Given the description of an element on the screen output the (x, y) to click on. 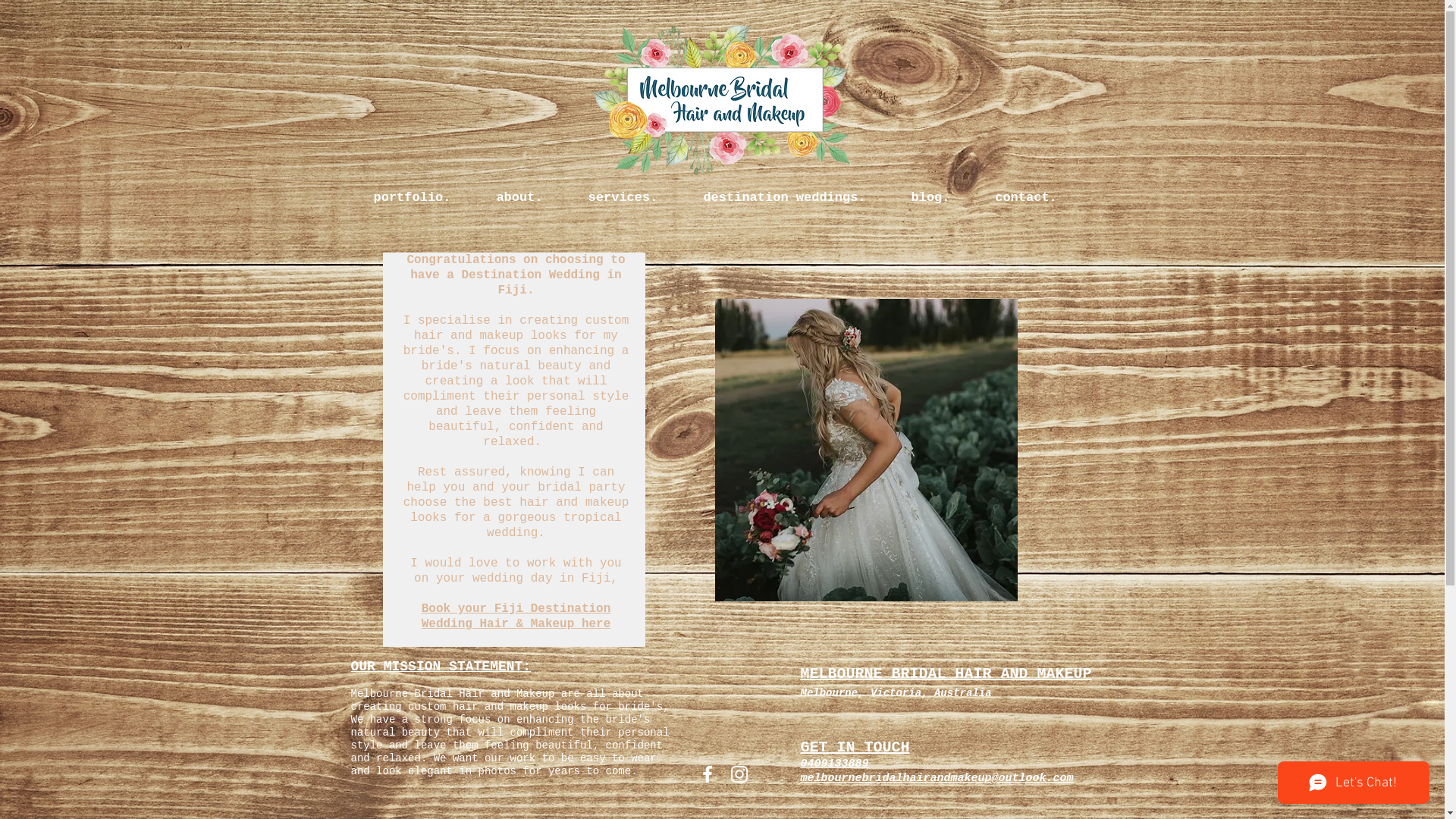
Jenny+Steve-1028.jpg Element type: hover (865, 449)
services. Element type: text (622, 197)
melbournebridalhairandmakeup@outlook.com Element type: text (936, 777)
blog. Element type: text (930, 197)
destination weddings. Element type: text (784, 197)
contact. Element type: text (1025, 197)
0409133889 Element type: text (834, 763)
about. Element type: text (518, 197)
portfolio. Element type: text (411, 197)
Index - Melbourne Bridal Hair and Makeup Element type: hover (722, 90)
Book your Fiji Destination Wedding Hair & Makeup here Element type: text (516, 616)
